Given the description of an element on the screen output the (x, y) to click on. 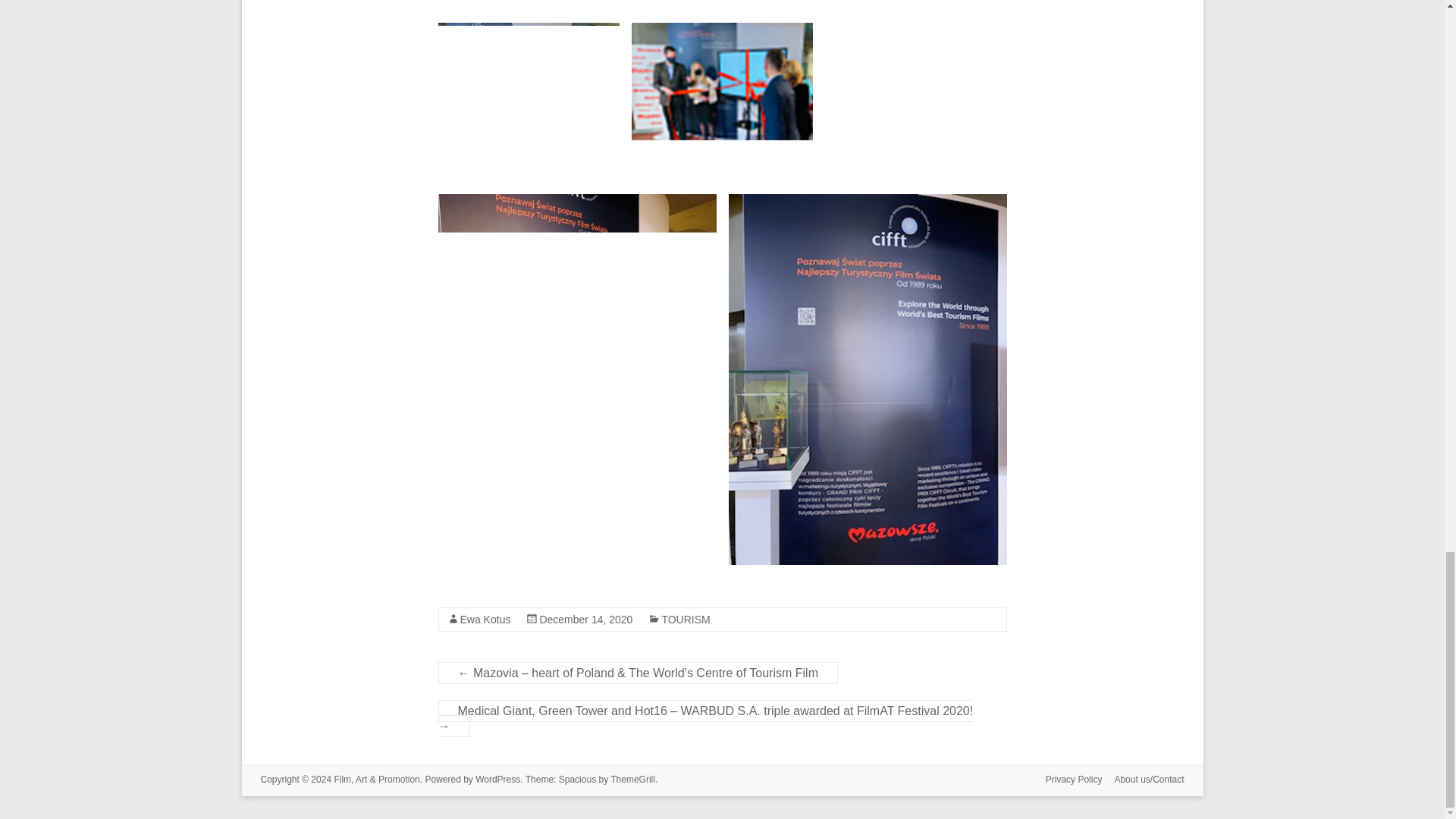
December 14, 2020 (584, 619)
WordPress (497, 778)
WordPress (497, 778)
Privacy Policy (1067, 780)
ThemeGrill (632, 778)
TOURISM (685, 619)
Ewa Kotus (485, 619)
5:05 PM (584, 619)
ThemeGrill (632, 778)
